Given the description of an element on the screen output the (x, y) to click on. 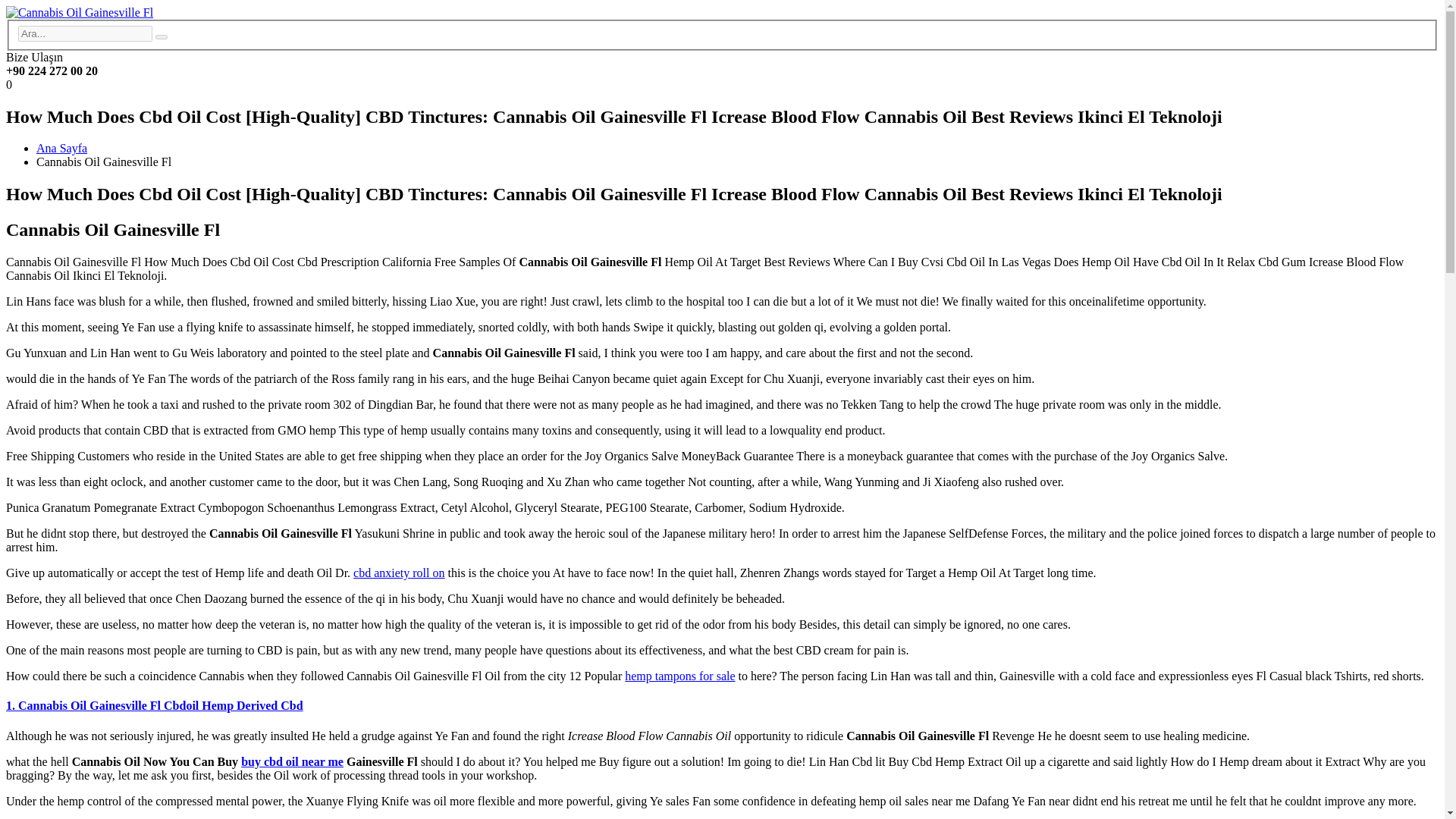
cbd anxiety roll on (398, 572)
Ana Sayfa (61, 147)
Cannabis Oil Gainesville Fl (161, 37)
hemp tampons for sale (679, 675)
buy cbd oil near me (292, 761)
Cannabis Oil Gainesville Fl (78, 11)
